Given the description of an element on the screen output the (x, y) to click on. 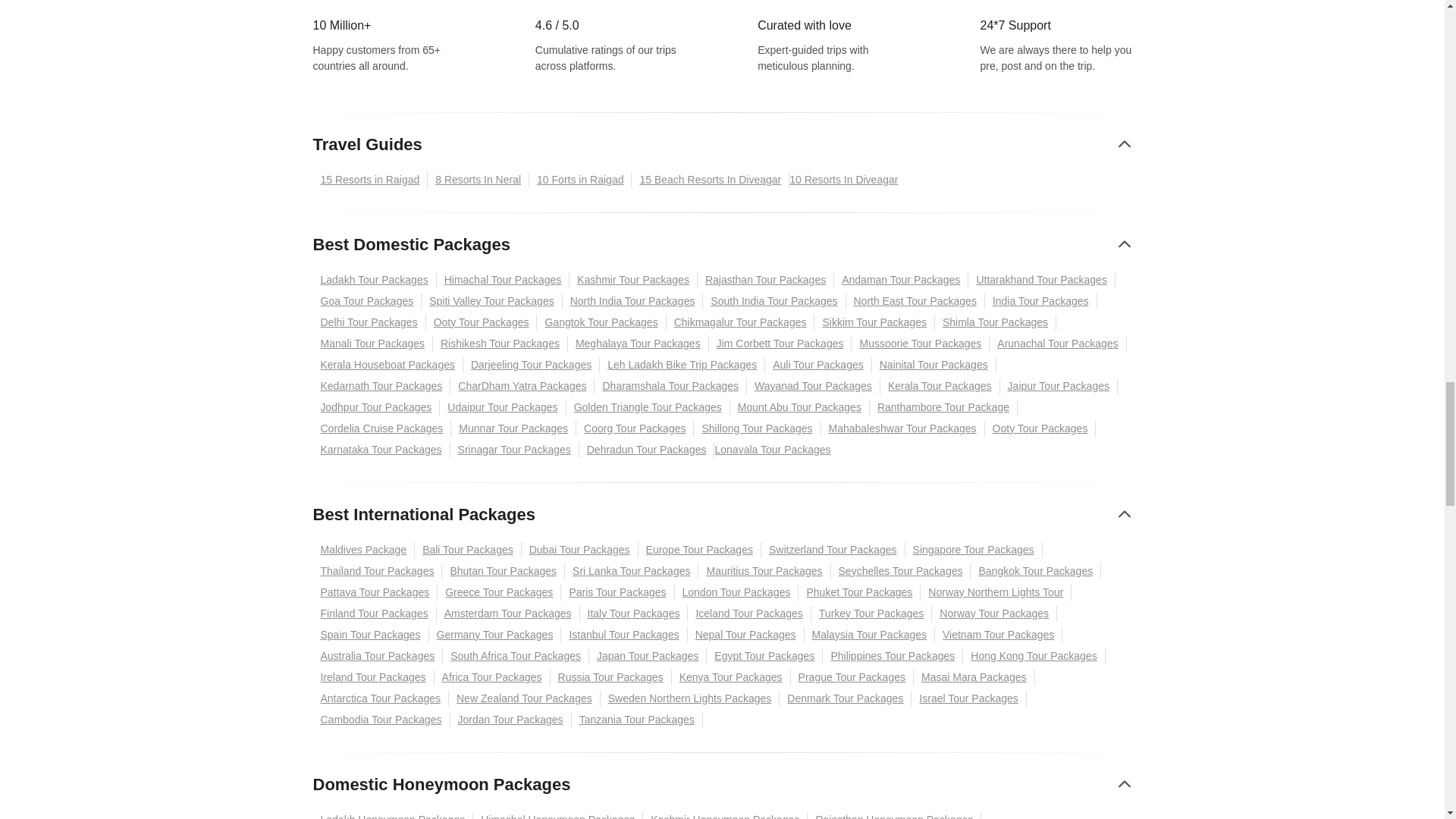
Uttarakhand Tour Packages (1041, 279)
8 Resorts In Neral (478, 179)
15 Resorts in Raigad (370, 179)
India Tour Packages (1041, 301)
10 Resorts In Diveagar (847, 179)
Kashmir Tour Packages (633, 279)
South India Tour Packages (774, 301)
North East Tour Packages (915, 301)
15 Beach Resorts In Diveagar (710, 179)
Ladakh Tour Packages (374, 279)
Andaman Tour Packages (901, 279)
Goa Tour Packages (367, 301)
Himachal Tour Packages (503, 279)
10 Forts in Raigad (580, 179)
North India Tour Packages (632, 301)
